Given the description of an element on the screen output the (x, y) to click on. 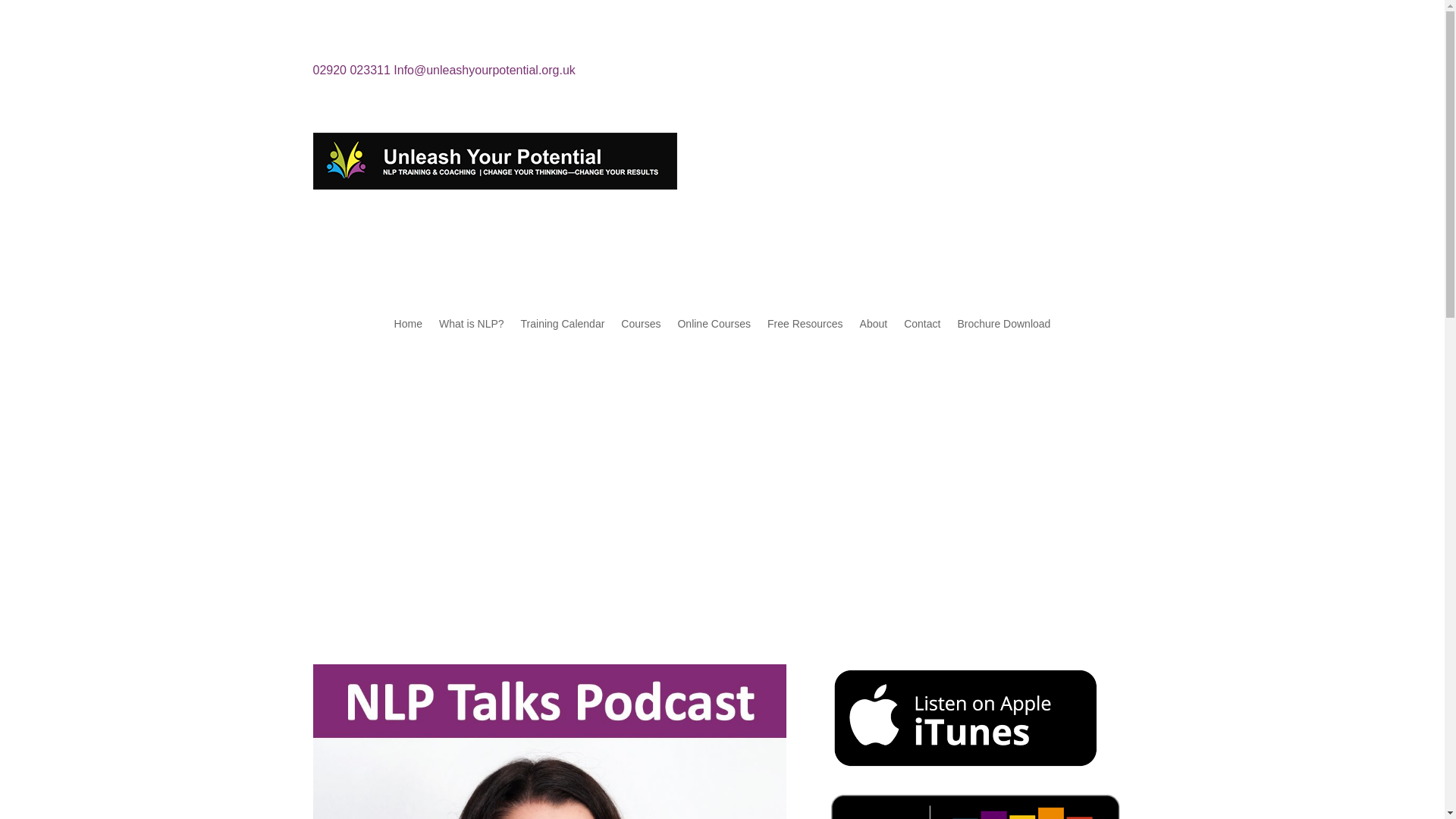
02920 023311 (351, 69)
Follow on Instagram (1118, 73)
Banner-for-name-badges-1-1024x159-1-2 (495, 160)
Follow on X (1088, 73)
Courses (641, 326)
What is NLP? (471, 326)
Online Courses (714, 326)
Home (408, 326)
Follow on Facebook (1058, 73)
Brochure Download (1002, 326)
